Given the description of an element on the screen output the (x, y) to click on. 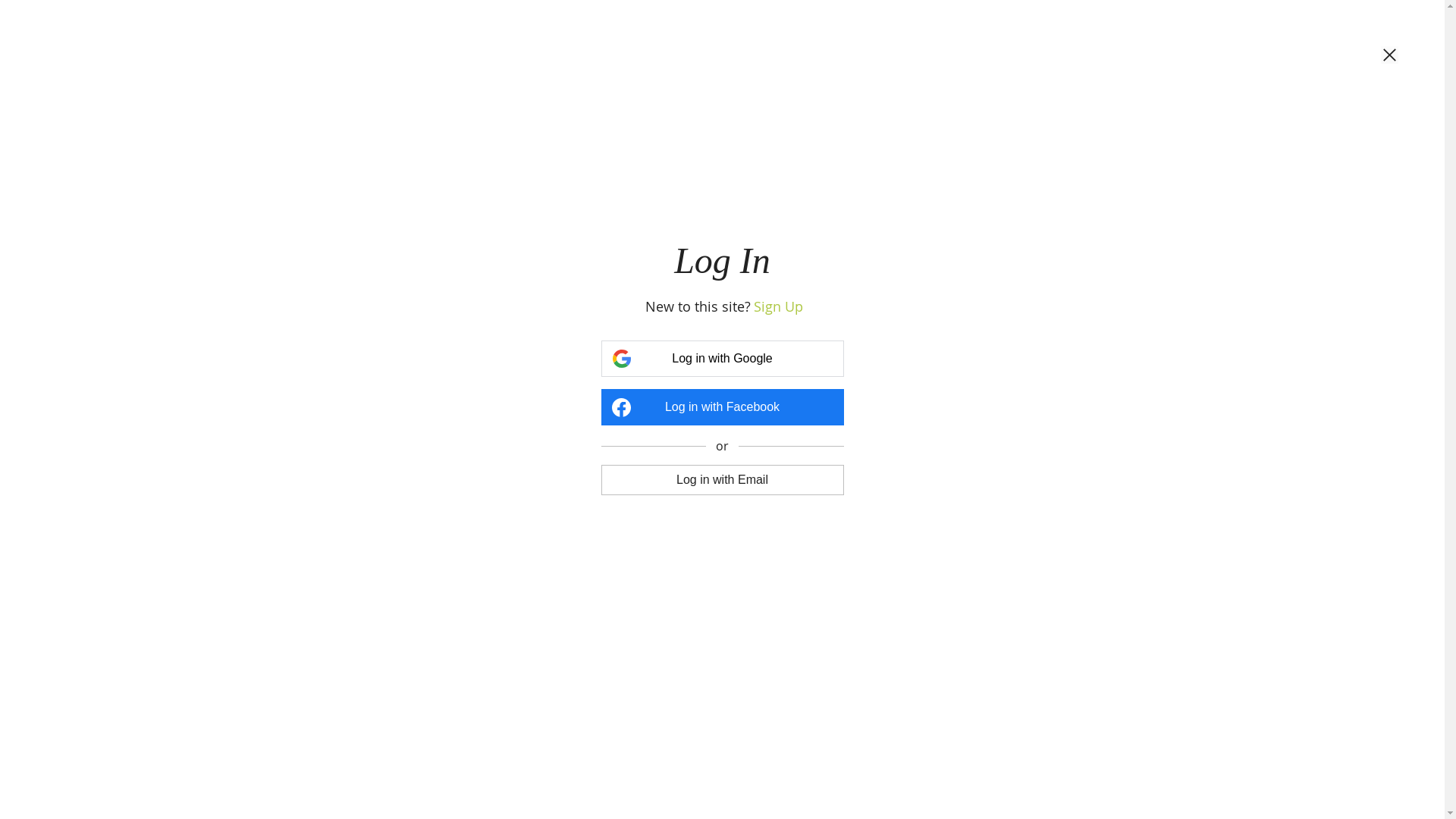
Log in with Email Element type: text (721, 479)
Log in with Google Element type: text (721, 358)
Sign Up Element type: text (778, 306)
Log in with Facebook Element type: text (721, 407)
